Given the description of an element on the screen output the (x, y) to click on. 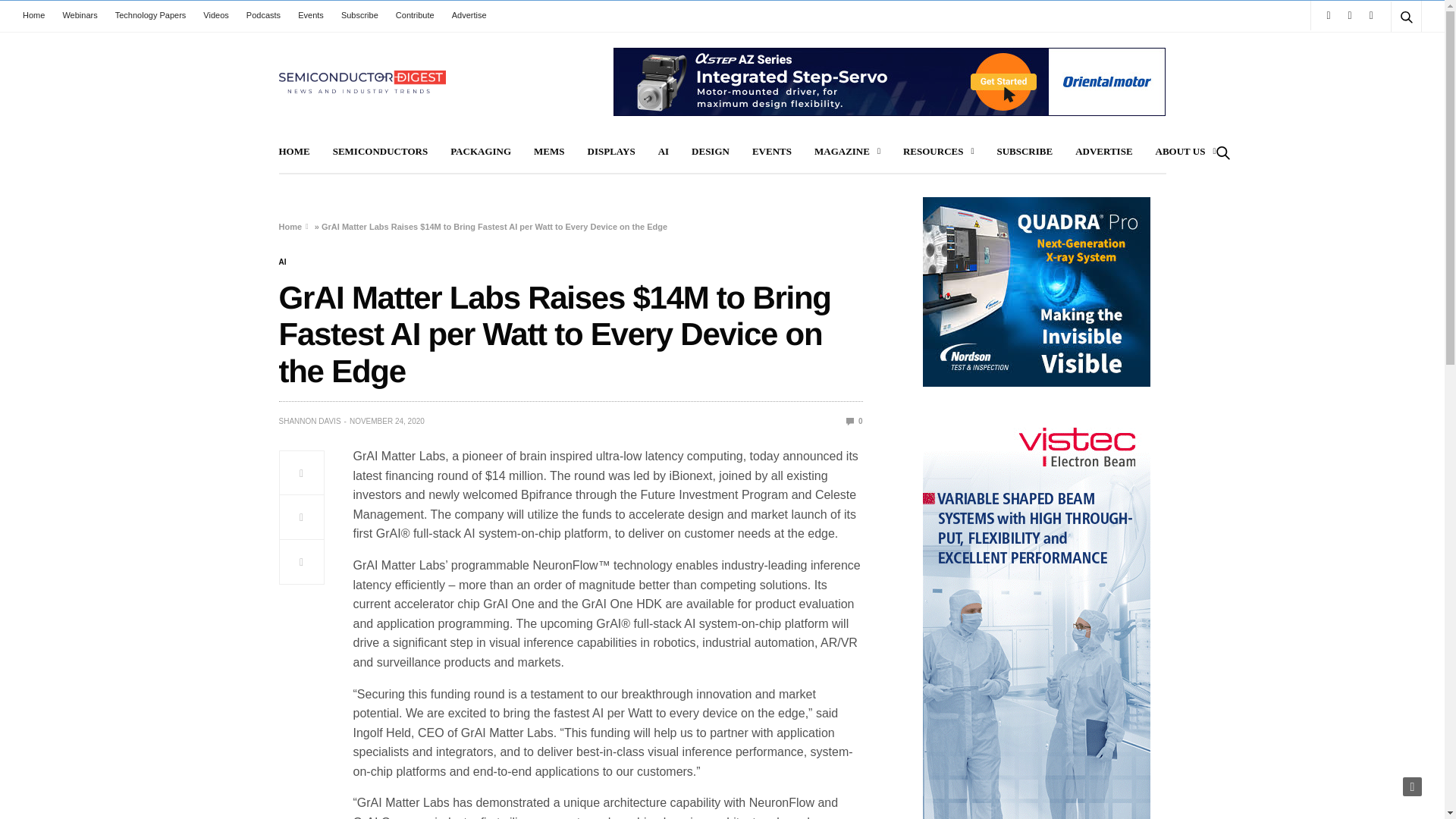
AI (282, 262)
Home (37, 15)
Webinars (79, 15)
Search (1386, 53)
EVENTS (772, 151)
Events (310, 15)
DESIGN (710, 151)
MAGAZINE (846, 151)
HOME (294, 151)
DISPLAYS (611, 151)
Subscribe (359, 15)
Technology Papers (150, 15)
MEMS (549, 151)
Posts by Shannon Davis (309, 421)
PACKAGING (480, 151)
